Given the description of an element on the screen output the (x, y) to click on. 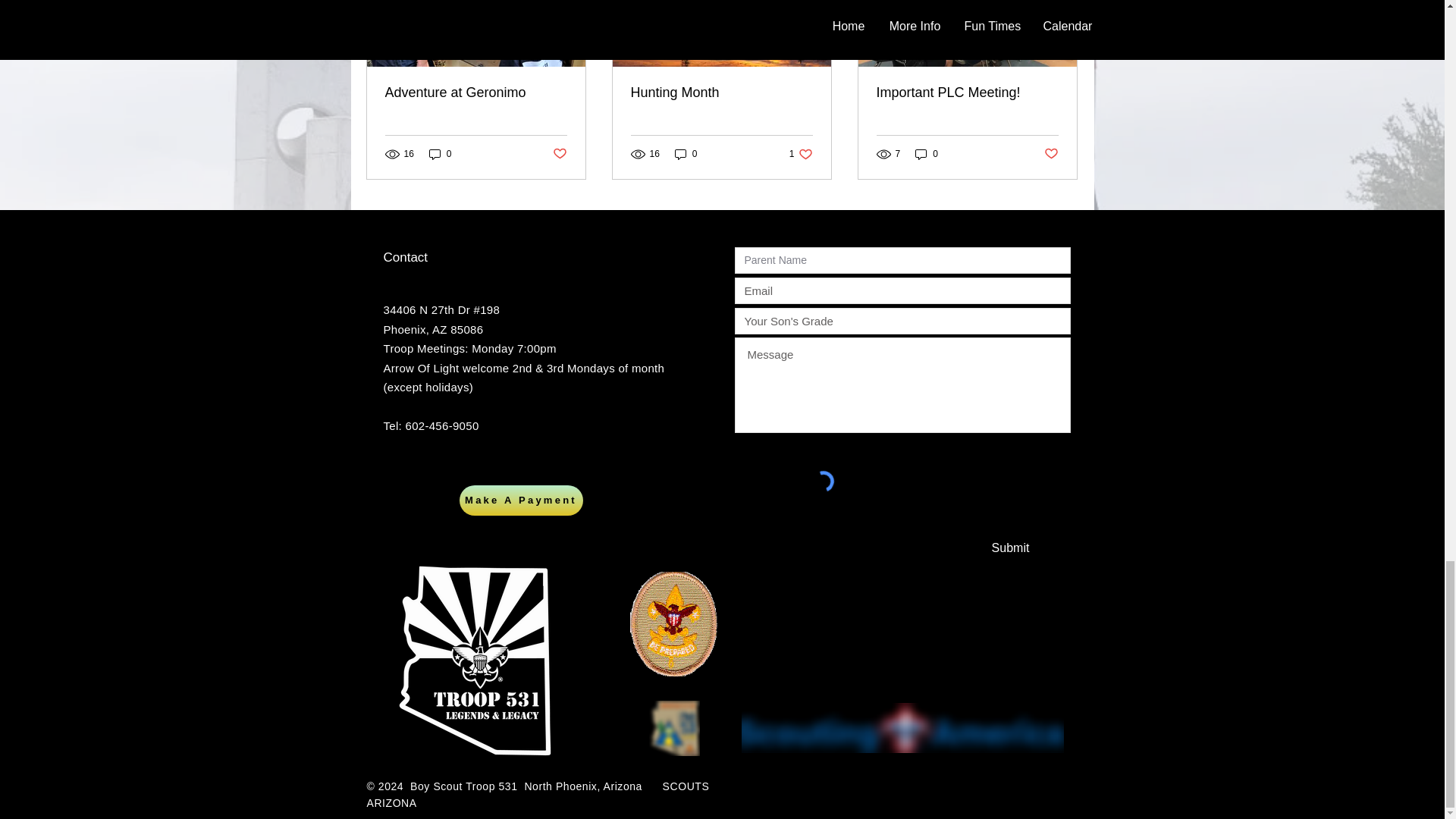
Hunting Month (721, 92)
Adventure at Geronimo (476, 92)
0 (440, 153)
Important PLC Meeting! (967, 92)
0 (685, 153)
0 (926, 153)
Post not marked as liked (558, 154)
Post not marked as liked (1050, 154)
